Given the description of an element on the screen output the (x, y) to click on. 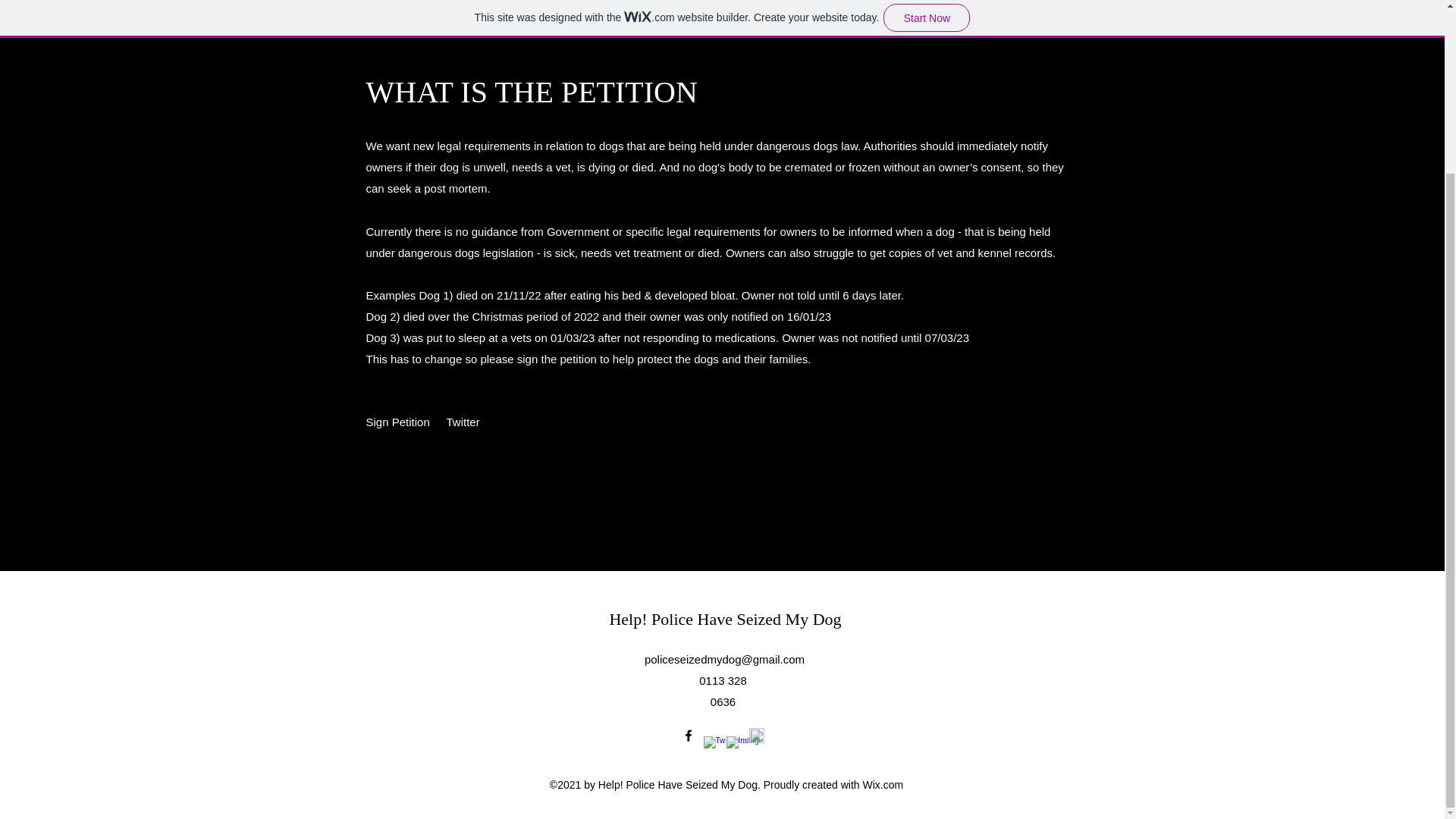
Twitter (463, 422)
Sign Petition (397, 422)
Help! Police Have Seized My Dog (724, 618)
